Given the description of an element on the screen output the (x, y) to click on. 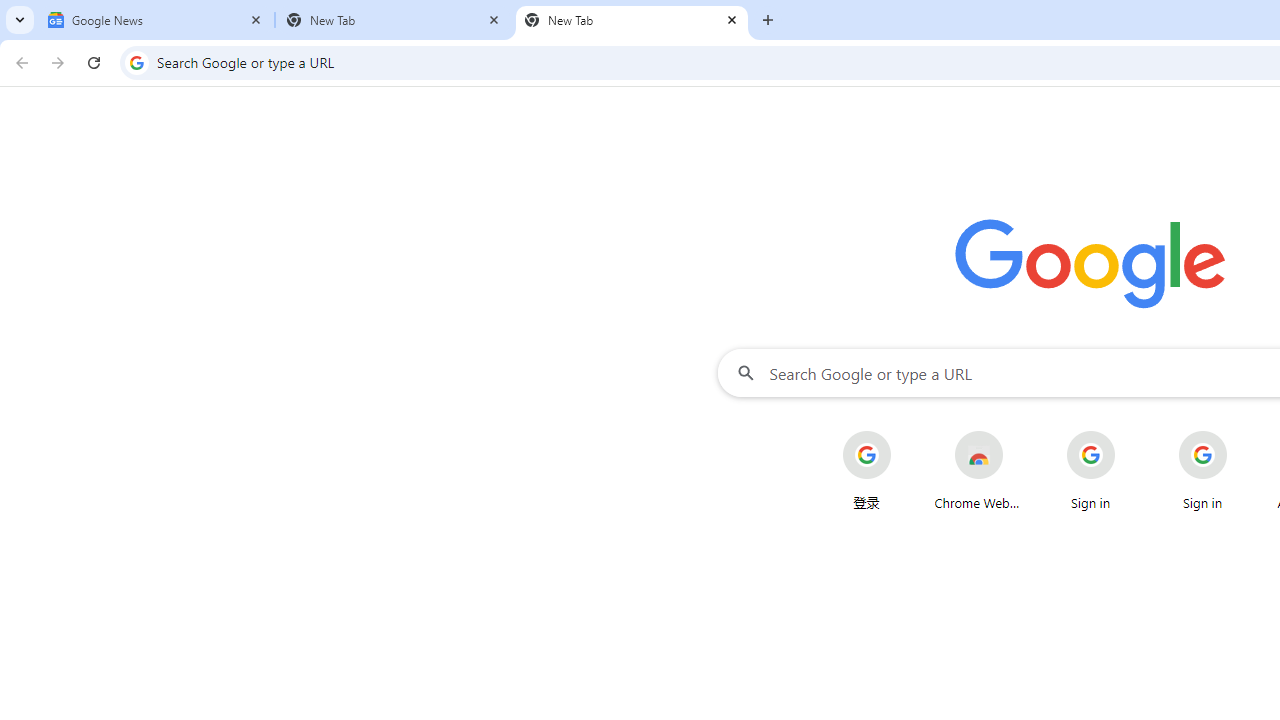
More actions for Chrome Web Store shortcut (1017, 433)
